Given the description of an element on the screen output the (x, y) to click on. 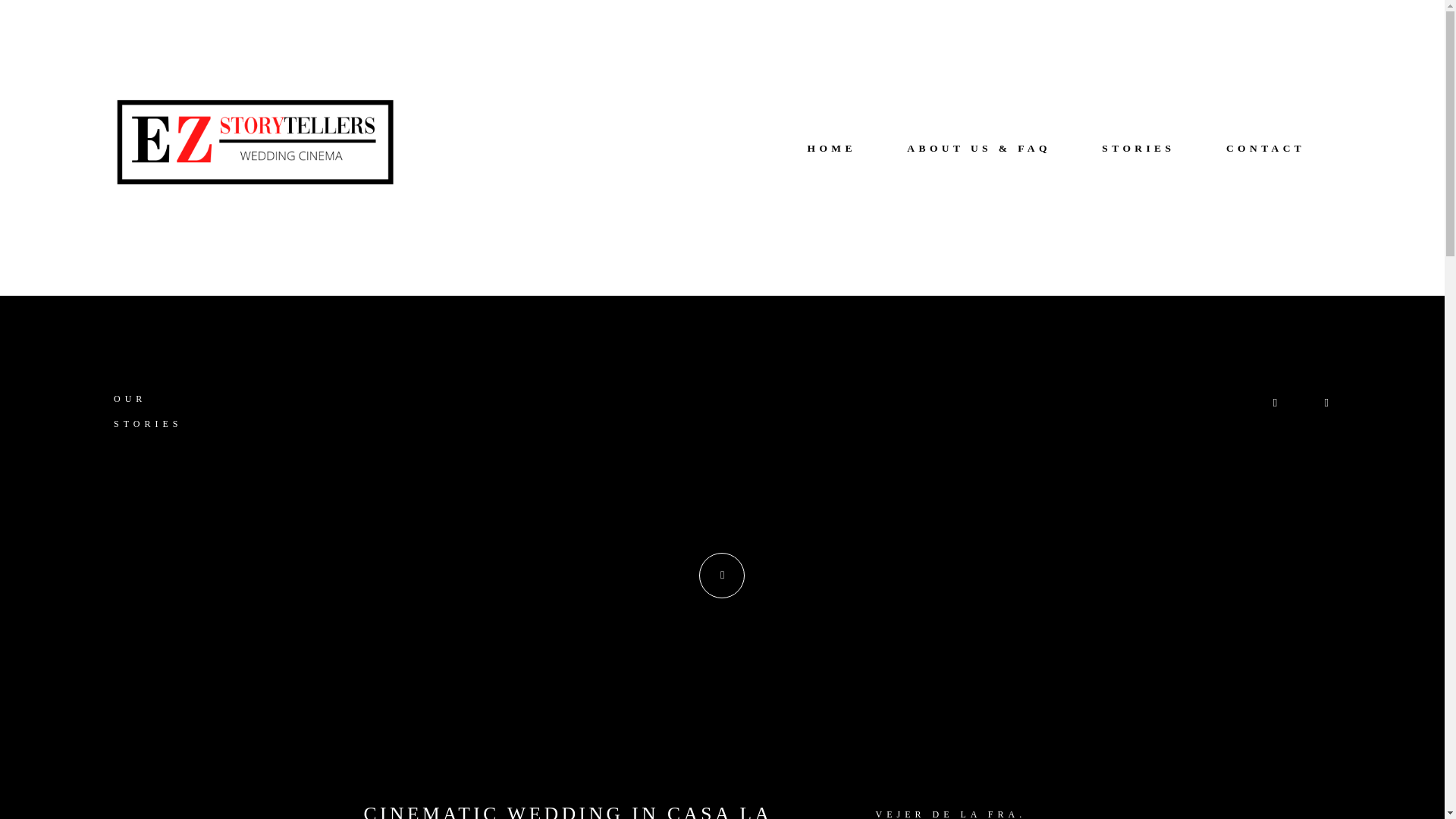
HOME (831, 148)
STORIES (1138, 148)
CONTACT (1264, 148)
